Given the description of an element on the screen output the (x, y) to click on. 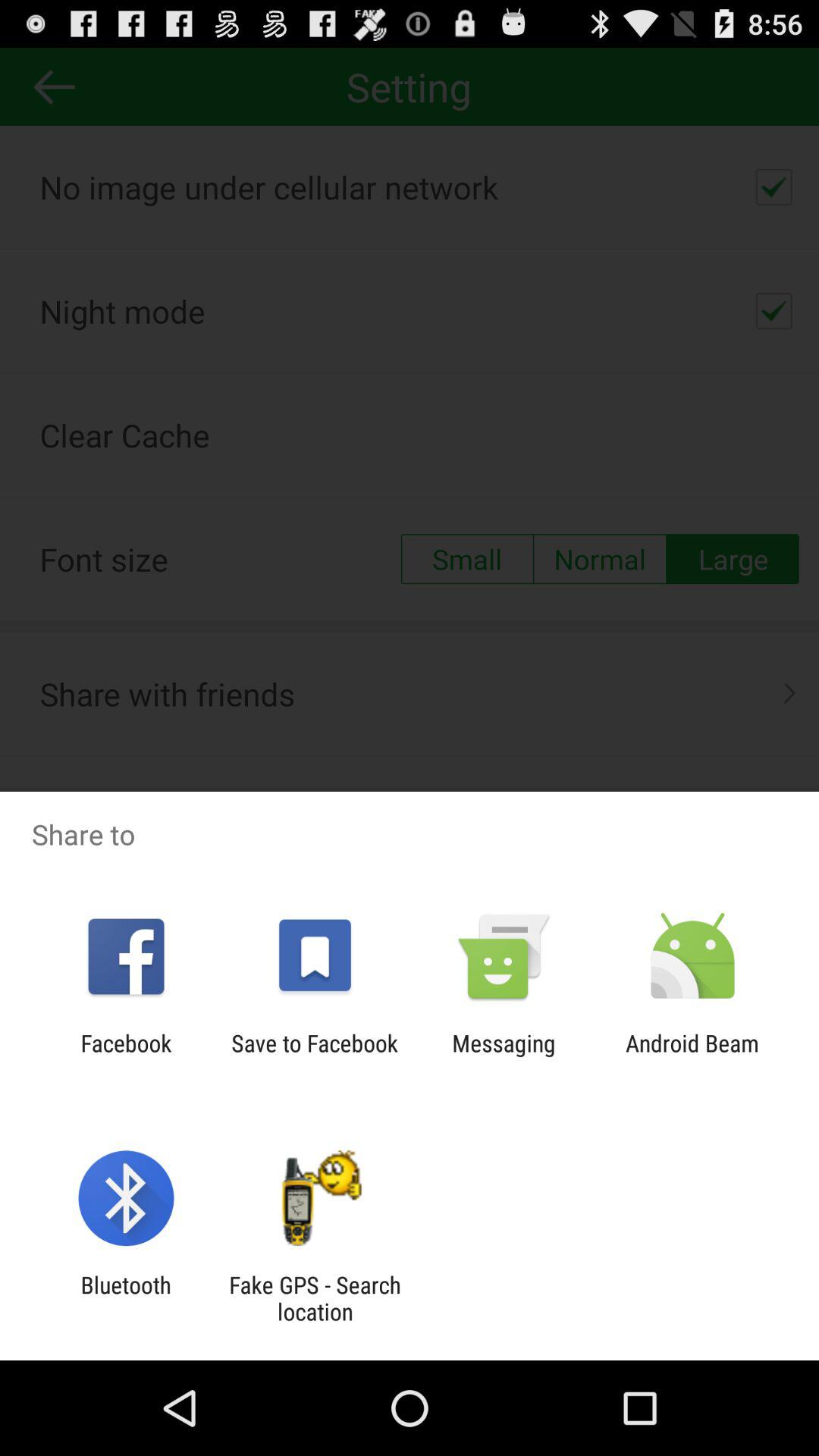
choose app to the left of the android beam app (503, 1056)
